Given the description of an element on the screen output the (x, y) to click on. 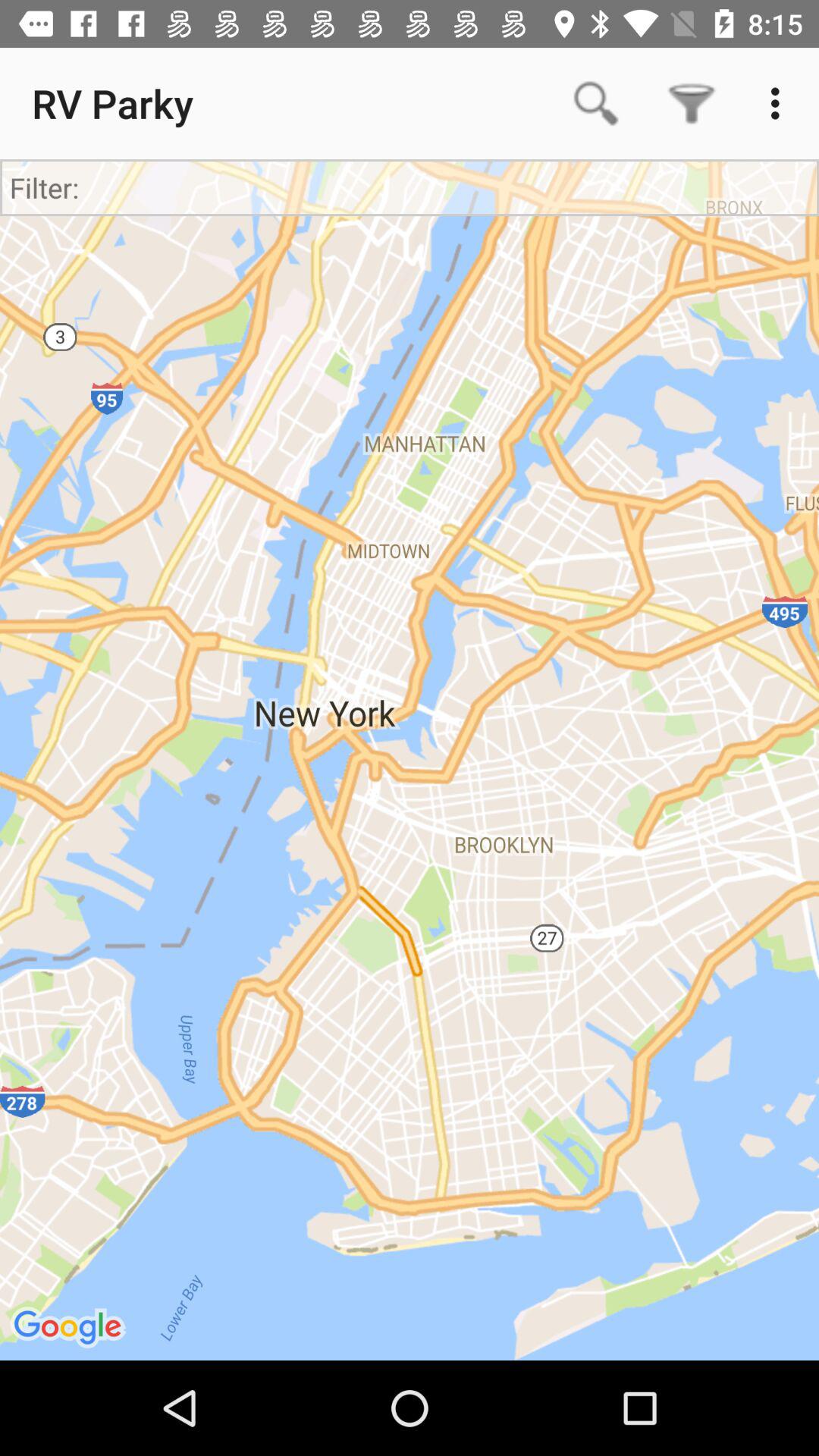
select item at the center (409, 759)
